Given the description of an element on the screen output the (x, y) to click on. 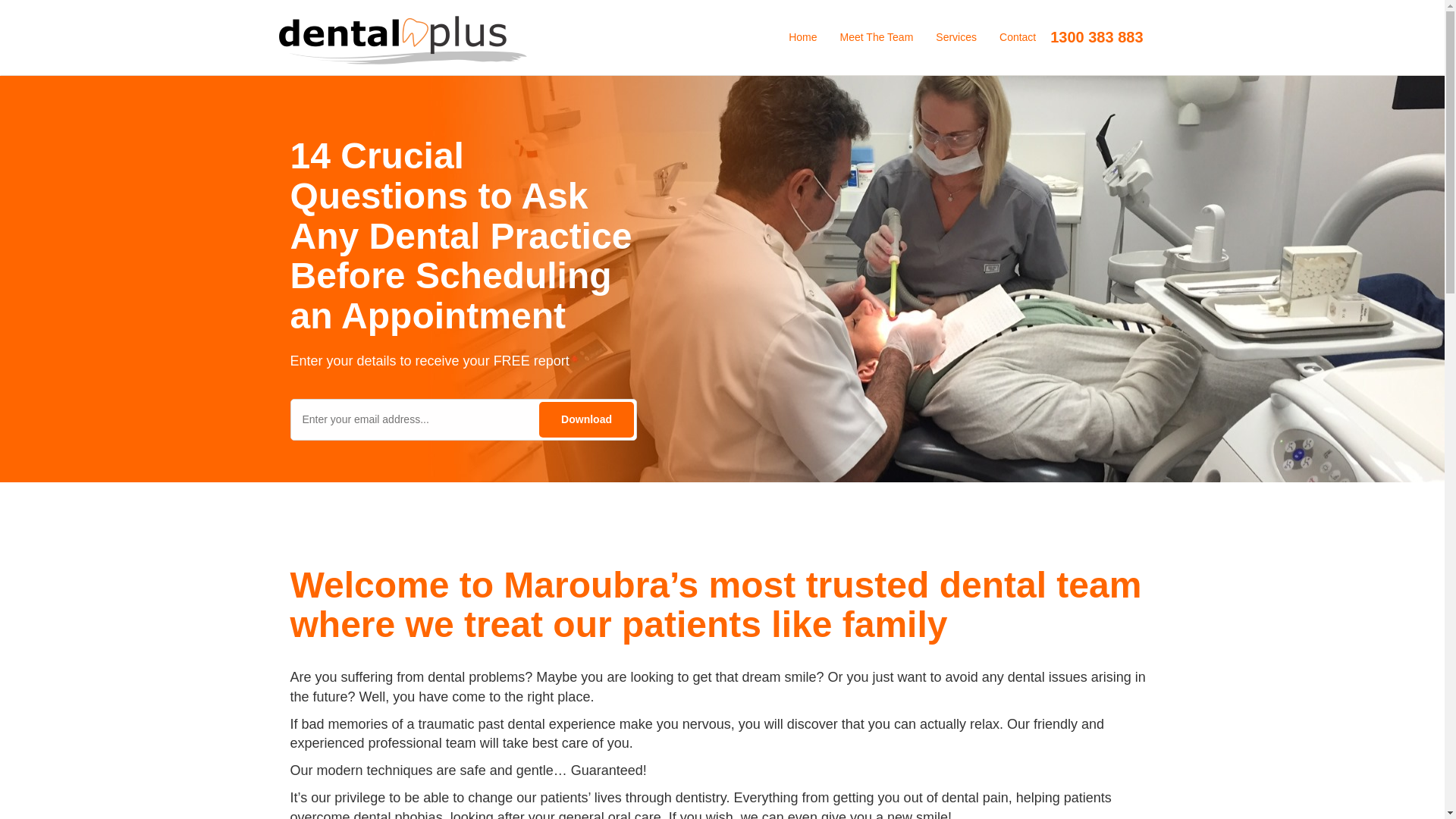
Download Element type: text (586, 419)
Contact Element type: text (1017, 37)
Services Element type: text (956, 37)
Meet The Team Element type: text (876, 37)
1300 383 883 Element type: text (1096, 37)
Home Element type: text (802, 37)
